Given the description of an element on the screen output the (x, y) to click on. 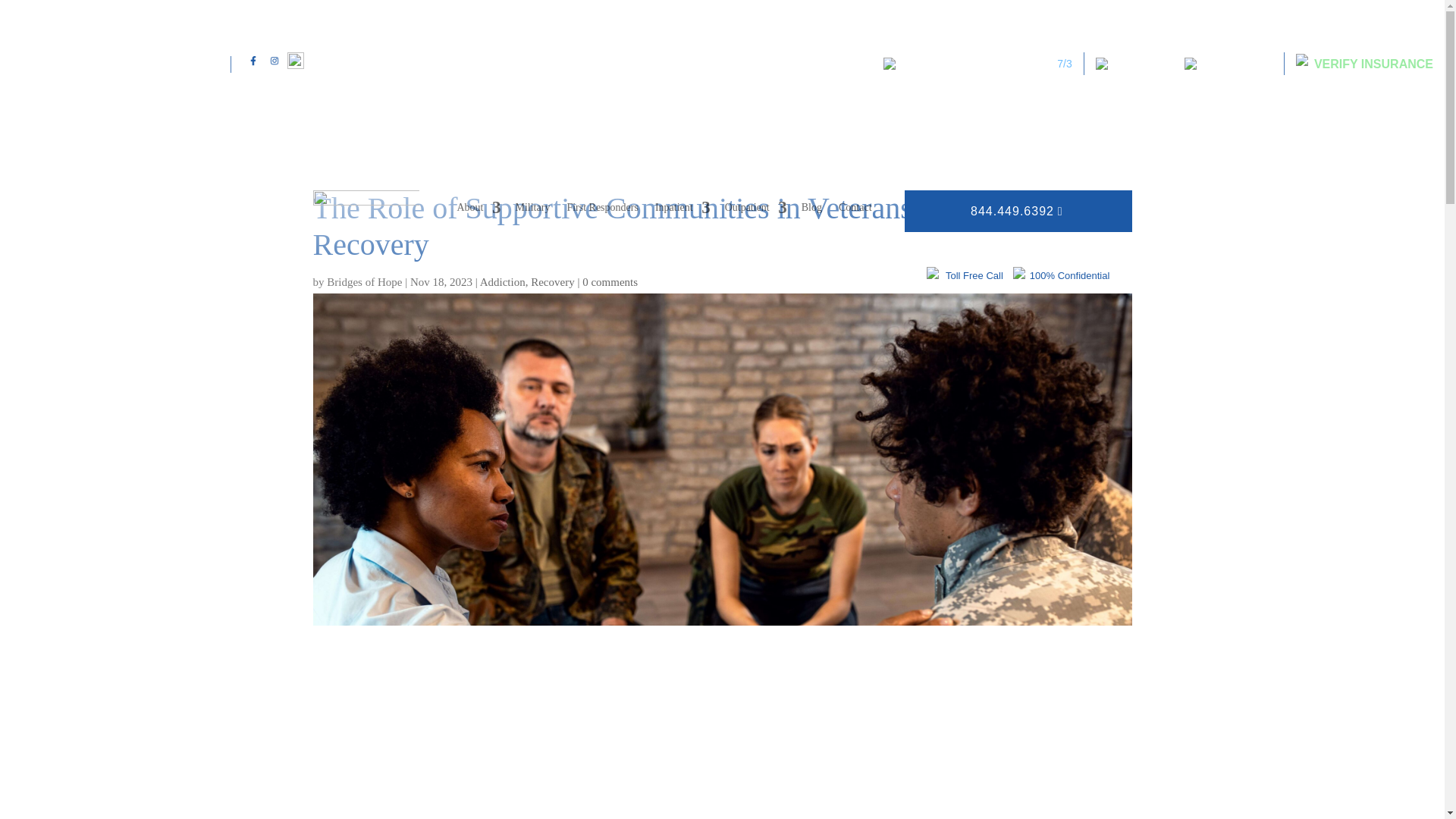
First Responders (602, 210)
The Best Way To Get Off Heroin (978, 63)
About (477, 210)
Contact (855, 210)
0 comments (609, 282)
Military (532, 210)
Inpatient (681, 210)
logo (366, 219)
Recovery (552, 282)
VERIFY INSURANCE (1358, 63)
